Given the description of an element on the screen output the (x, y) to click on. 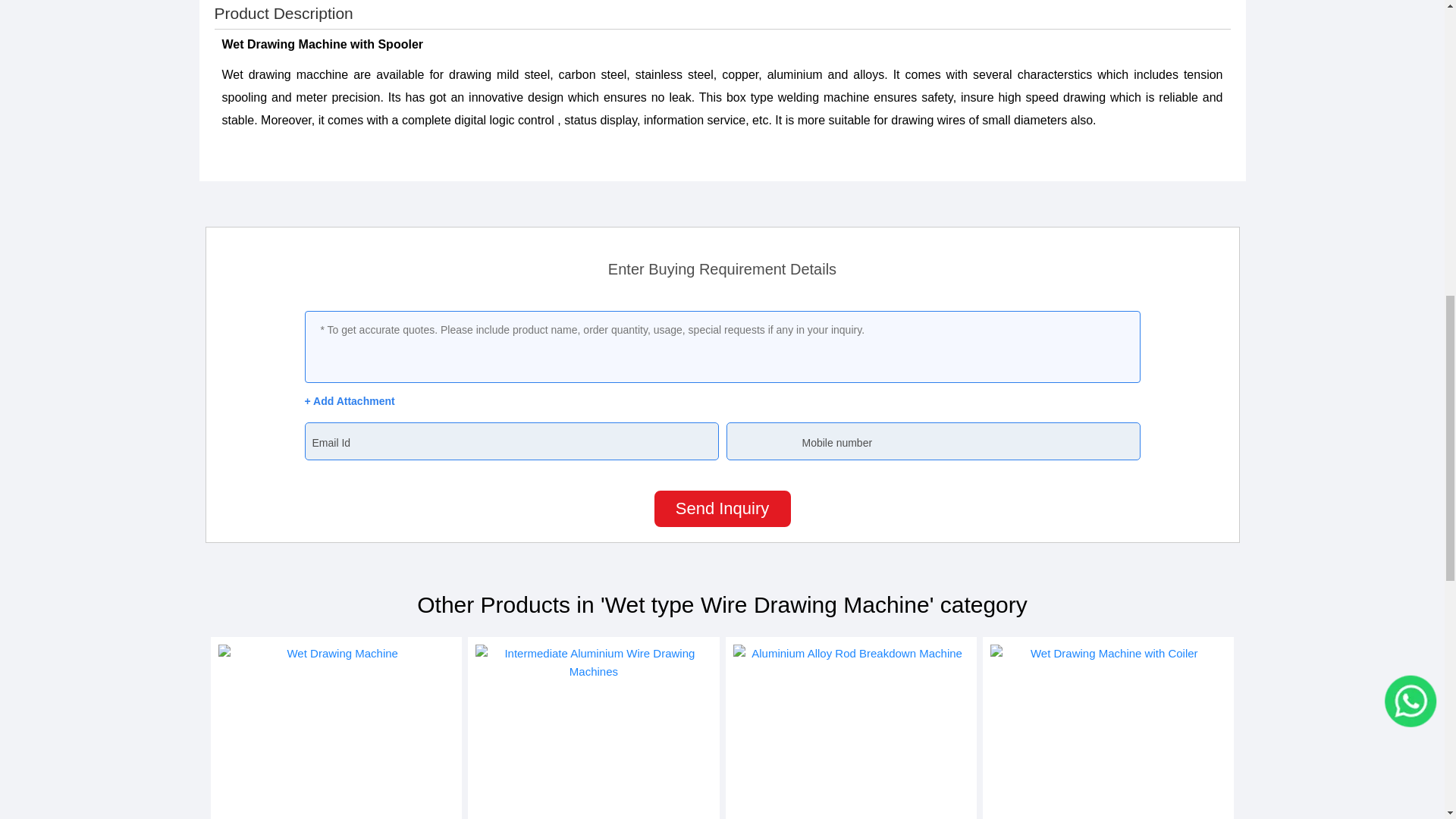
Send Inquiry (721, 508)
